Given the description of an element on the screen output the (x, y) to click on. 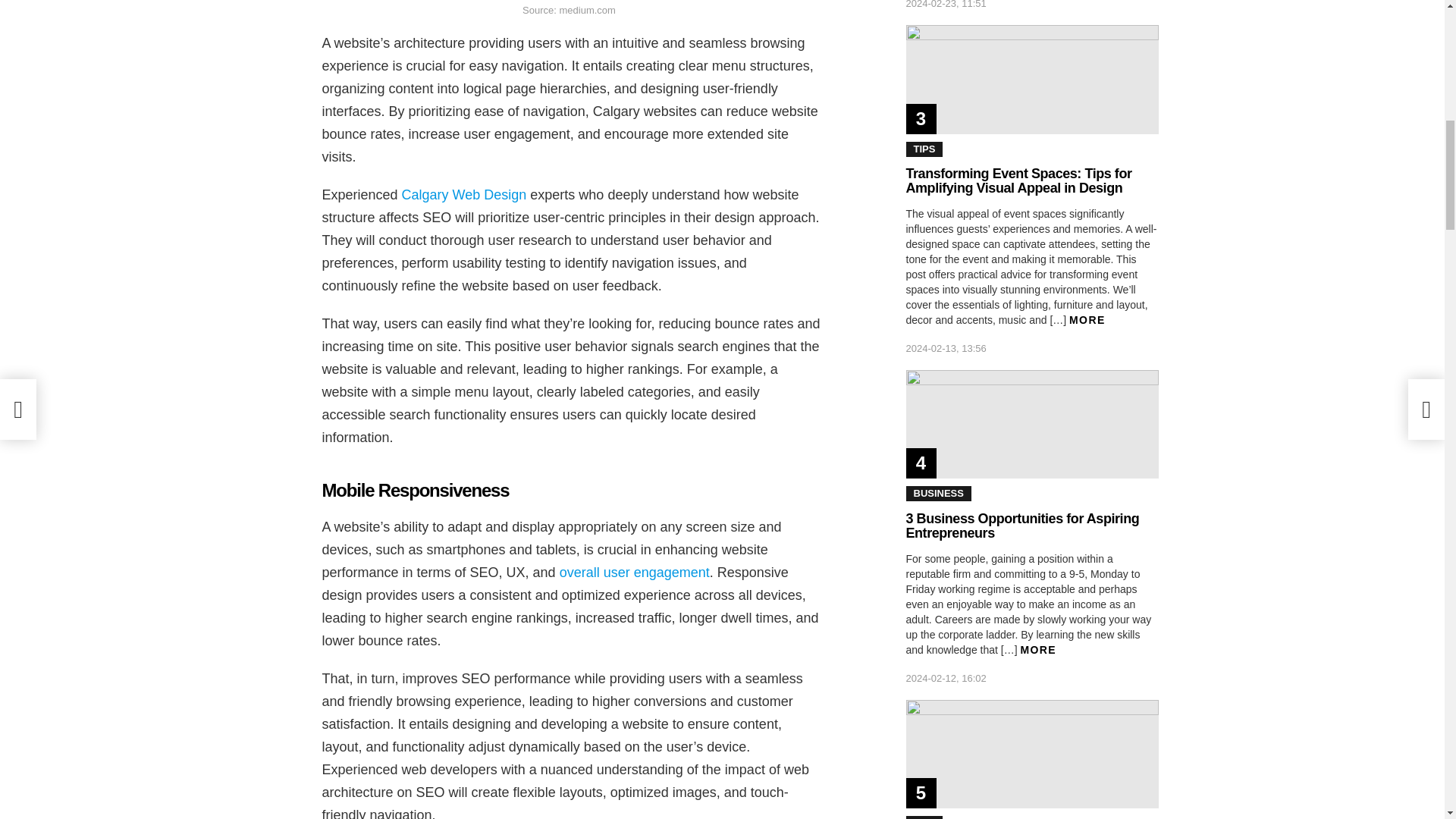
overall user engagement (634, 572)
Calgary Web Design (464, 194)
